Given the description of an element on the screen output the (x, y) to click on. 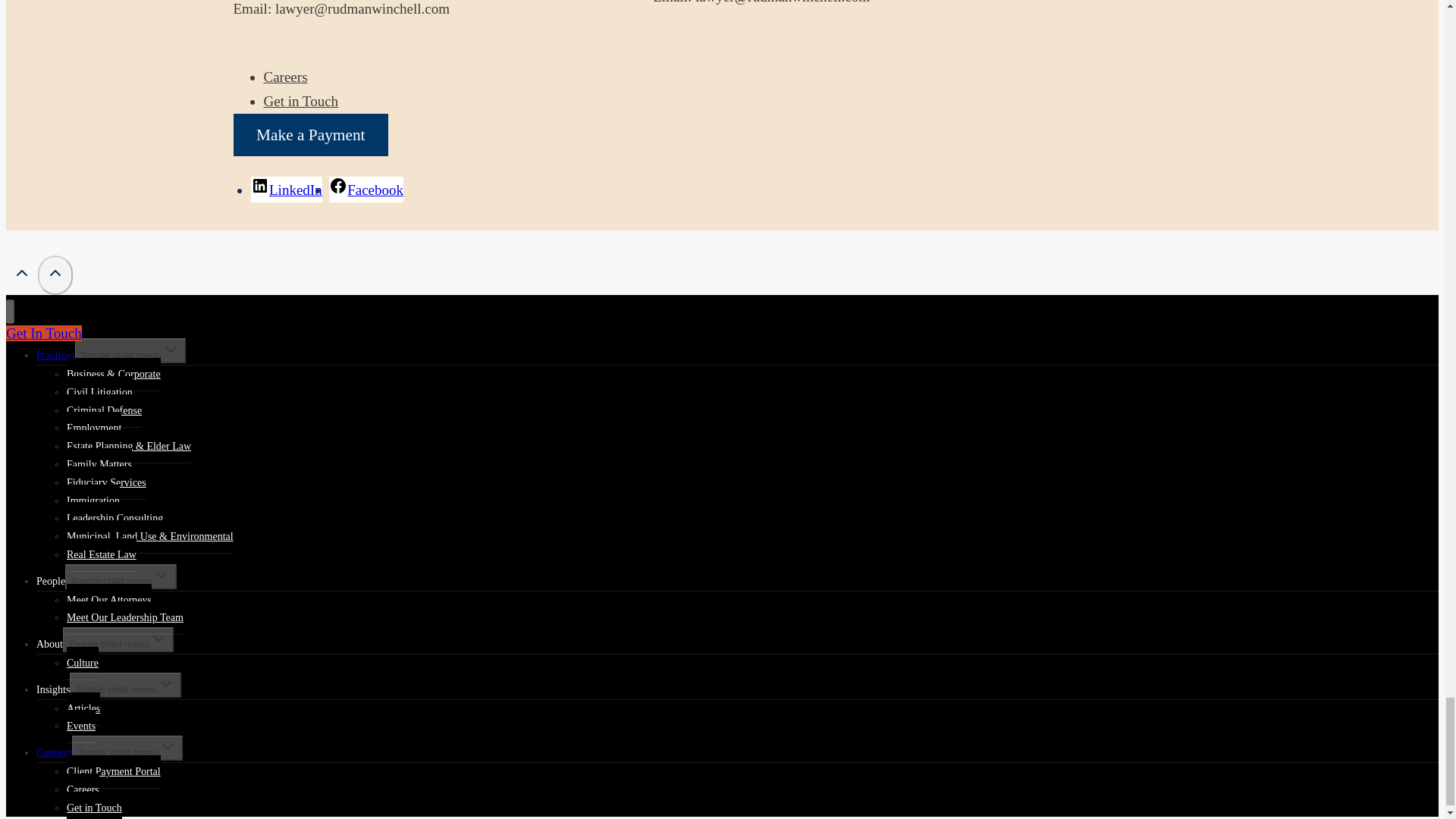
Expand (170, 349)
Scroll to top (55, 272)
Expand (158, 638)
Expand (161, 575)
Scroll to top (21, 272)
Scroll to top (21, 276)
